Given the description of an element on the screen output the (x, y) to click on. 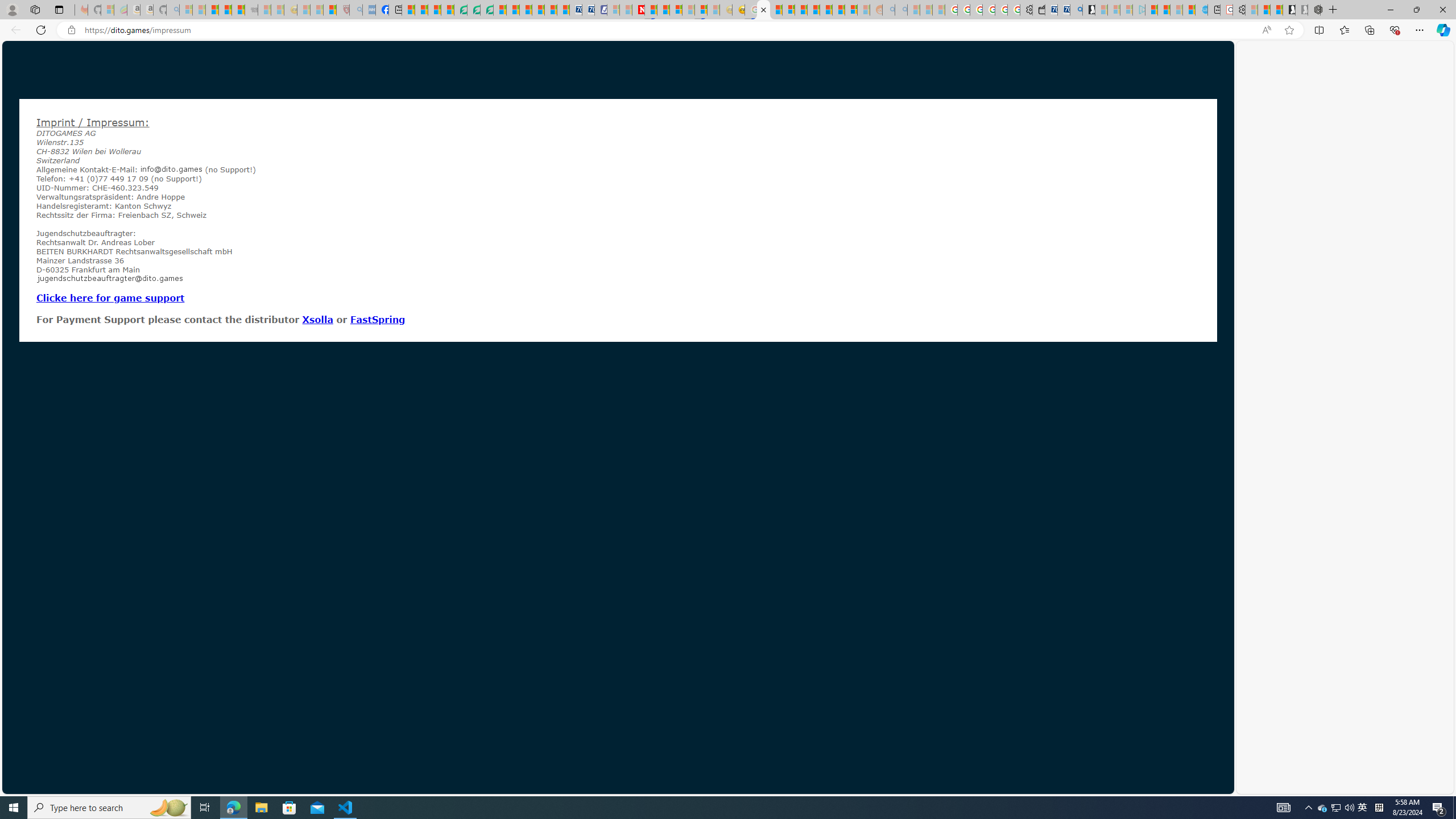
Local - MSN (329, 9)
Home | Sky Blue Bikes - Sky Blue Bikes (1201, 9)
Cheap Hotels - Save70.com (587, 9)
The Weather Channel - MSN (212, 9)
LendingTree - Compare Lenders (460, 9)
